Given the description of an element on the screen output the (x, y) to click on. 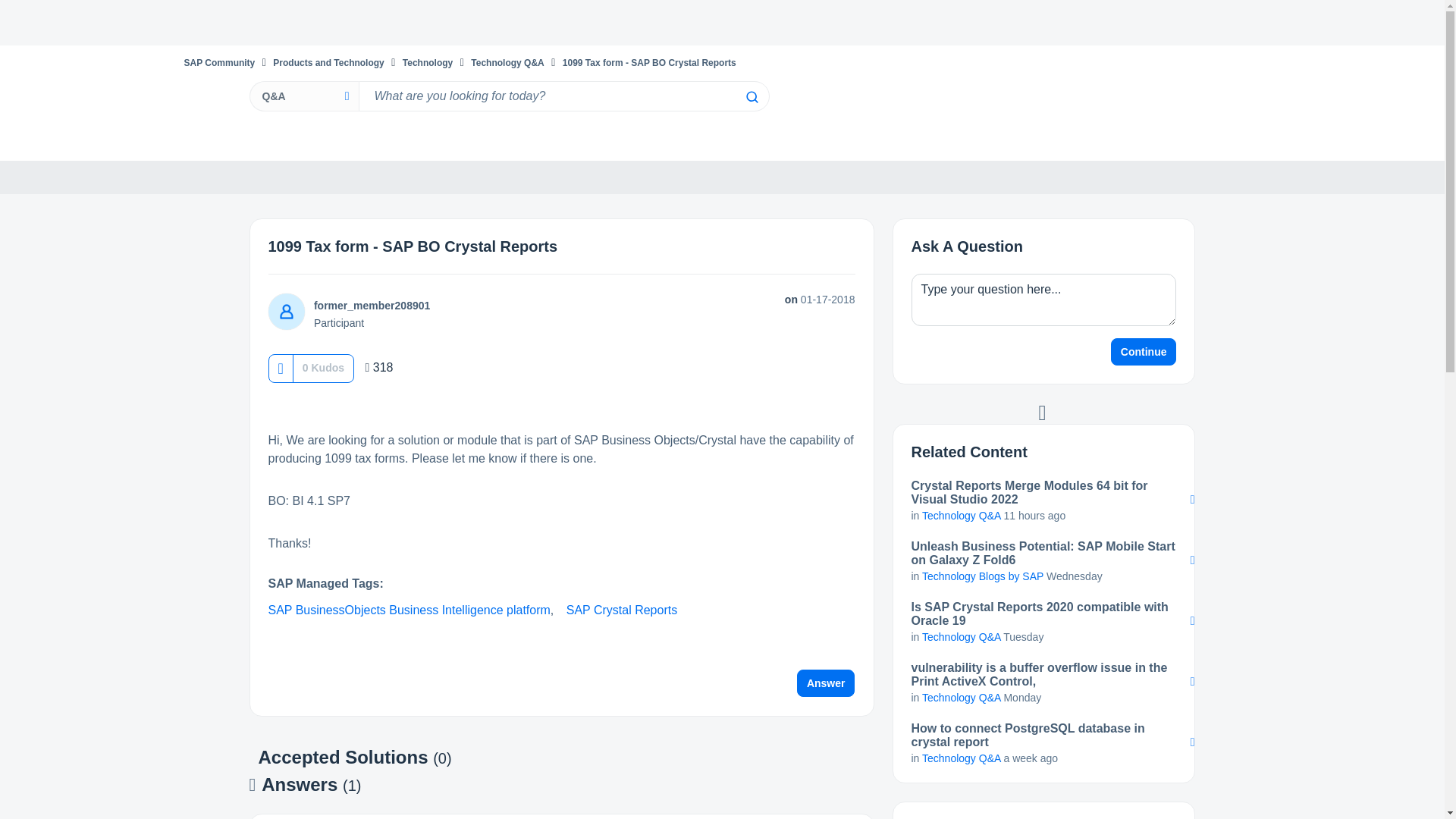
Continue (1143, 351)
Continue (1143, 351)
The total number of kudos this post has received. (323, 367)
Search (750, 96)
Technology (427, 62)
Click here to give kudos to this post. (279, 367)
Answer (826, 682)
Products and Technology (328, 62)
Search (563, 96)
Search Granularity (303, 96)
Search (750, 96)
SAP Community (218, 62)
SAP Crystal Reports (621, 609)
Search (750, 96)
SAP BusinessObjects Business Intelligence platform (408, 609)
